Given the description of an element on the screen output the (x, y) to click on. 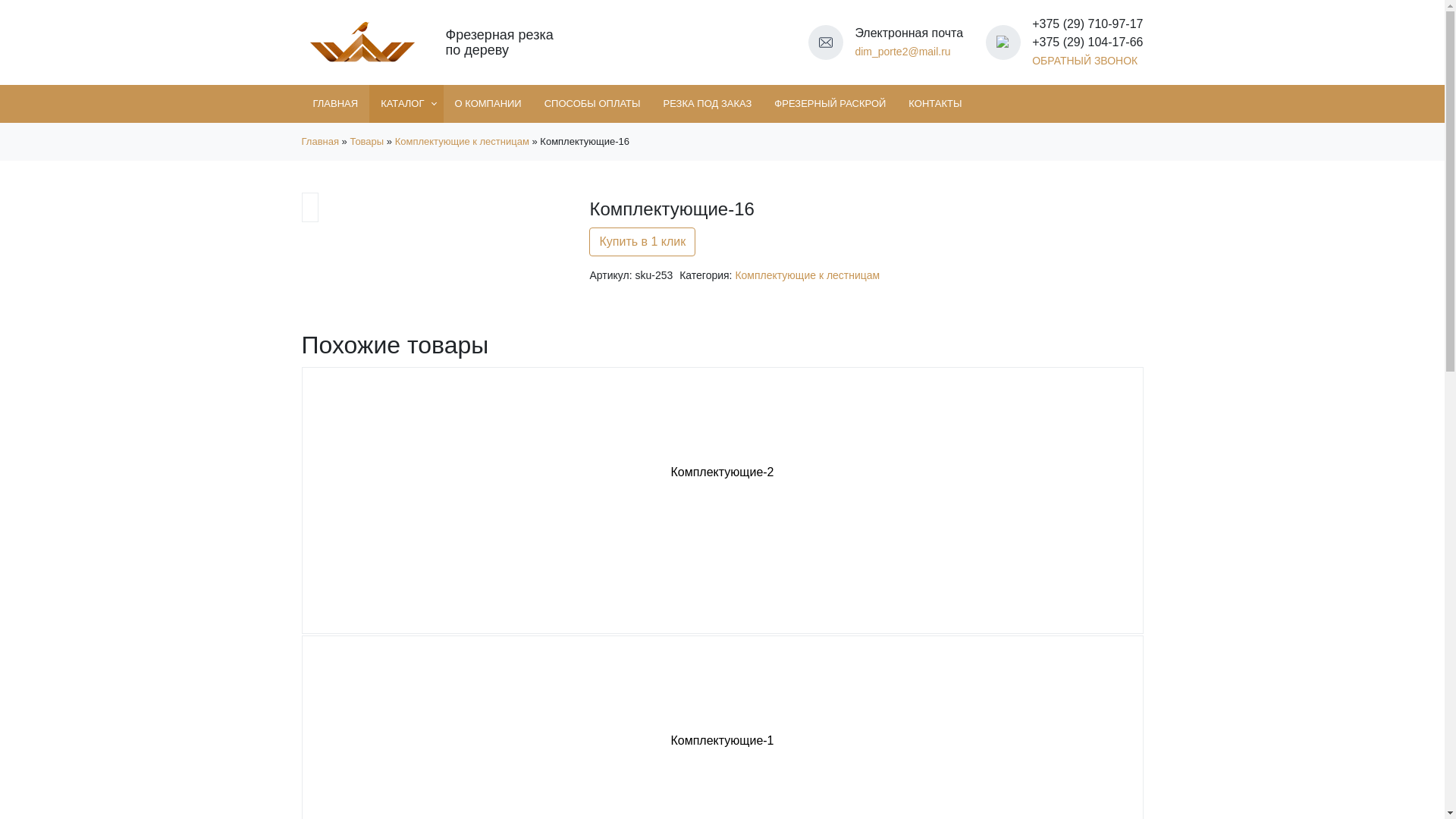
dim_porte2@mail.ru Element type: text (902, 51)
